Given the description of an element on the screen output the (x, y) to click on. 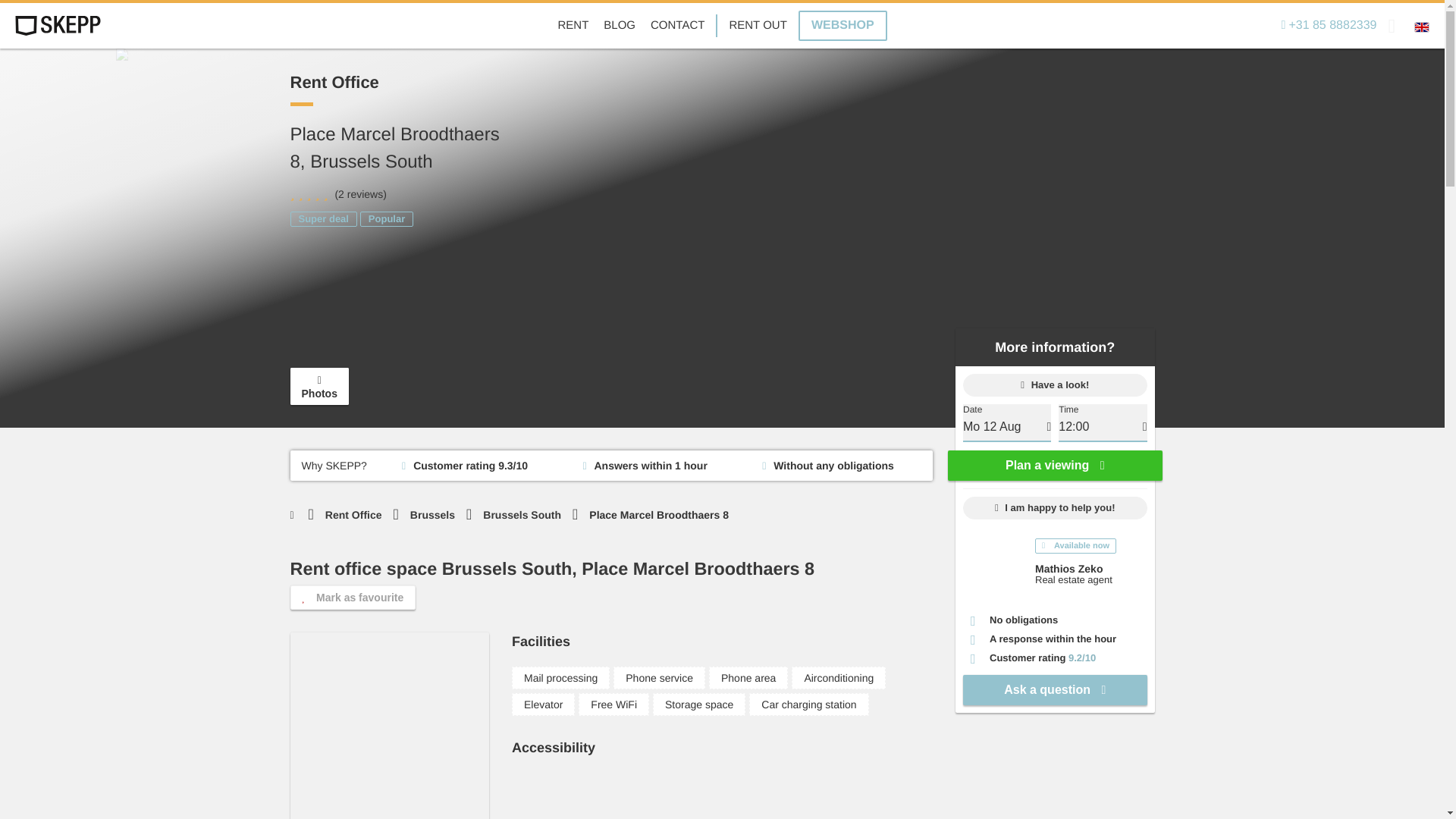
WEBSHOP (841, 25)
BLOG (619, 25)
Contact (677, 25)
12:00 (1102, 426)
Photos (318, 385)
Mo 12 Aug (1006, 426)
Rent (573, 25)
Blog (619, 25)
CONTACT (677, 25)
Webshop (841, 25)
